Given the description of an element on the screen output the (x, y) to click on. 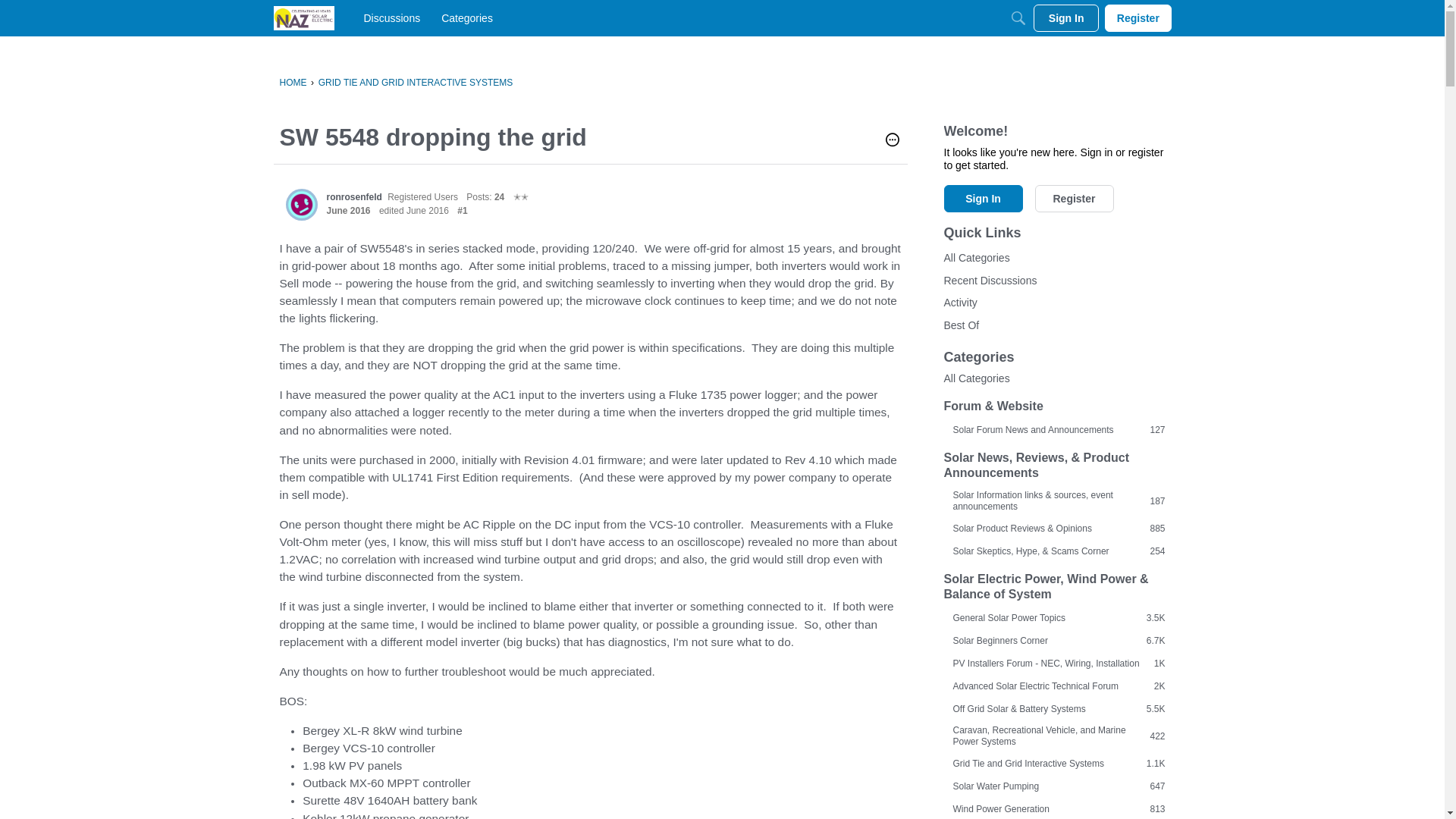
GRID TIE AND GRID INTERACTIVE SYSTEMS (415, 81)
Edited June 15, 2016 3:06AM by ronrosenfeld. (413, 210)
Sign In (1066, 17)
HOME (292, 81)
June 15, 2016 3:05AM (347, 210)
Categories (467, 17)
ronrosenfeld (353, 196)
ronrosenfeld (301, 204)
Register (1137, 17)
Discussions (392, 17)
June 2016 (347, 210)
Level 2 (520, 196)
Search (1018, 17)
